Given the description of an element on the screen output the (x, y) to click on. 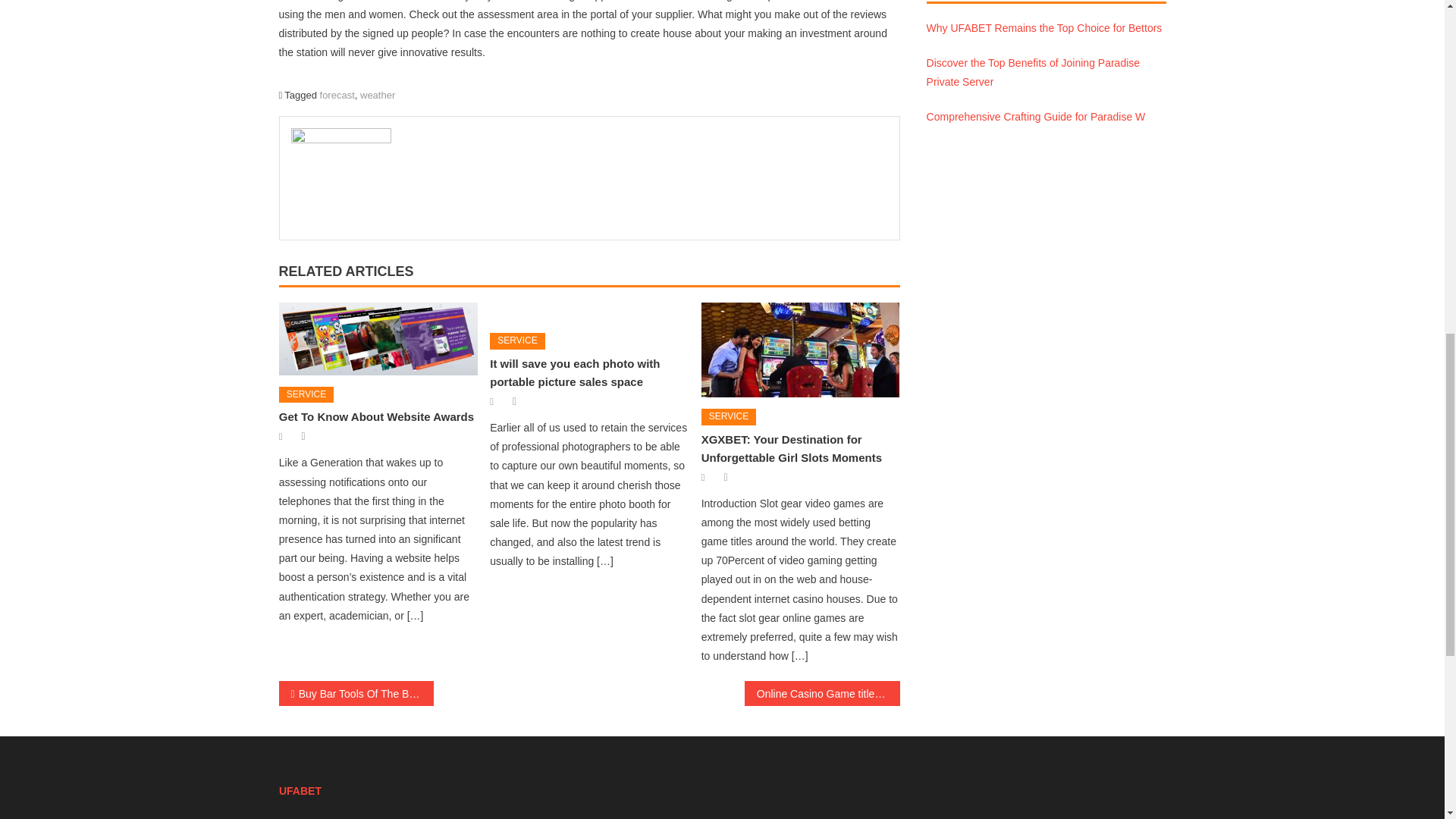
SERVICE (516, 340)
Get To Know About Website Awards (376, 416)
forecast (337, 94)
SERVICE (306, 394)
Get To Know About Website Awards (378, 338)
weather (376, 94)
